Given the description of an element on the screen output the (x, y) to click on. 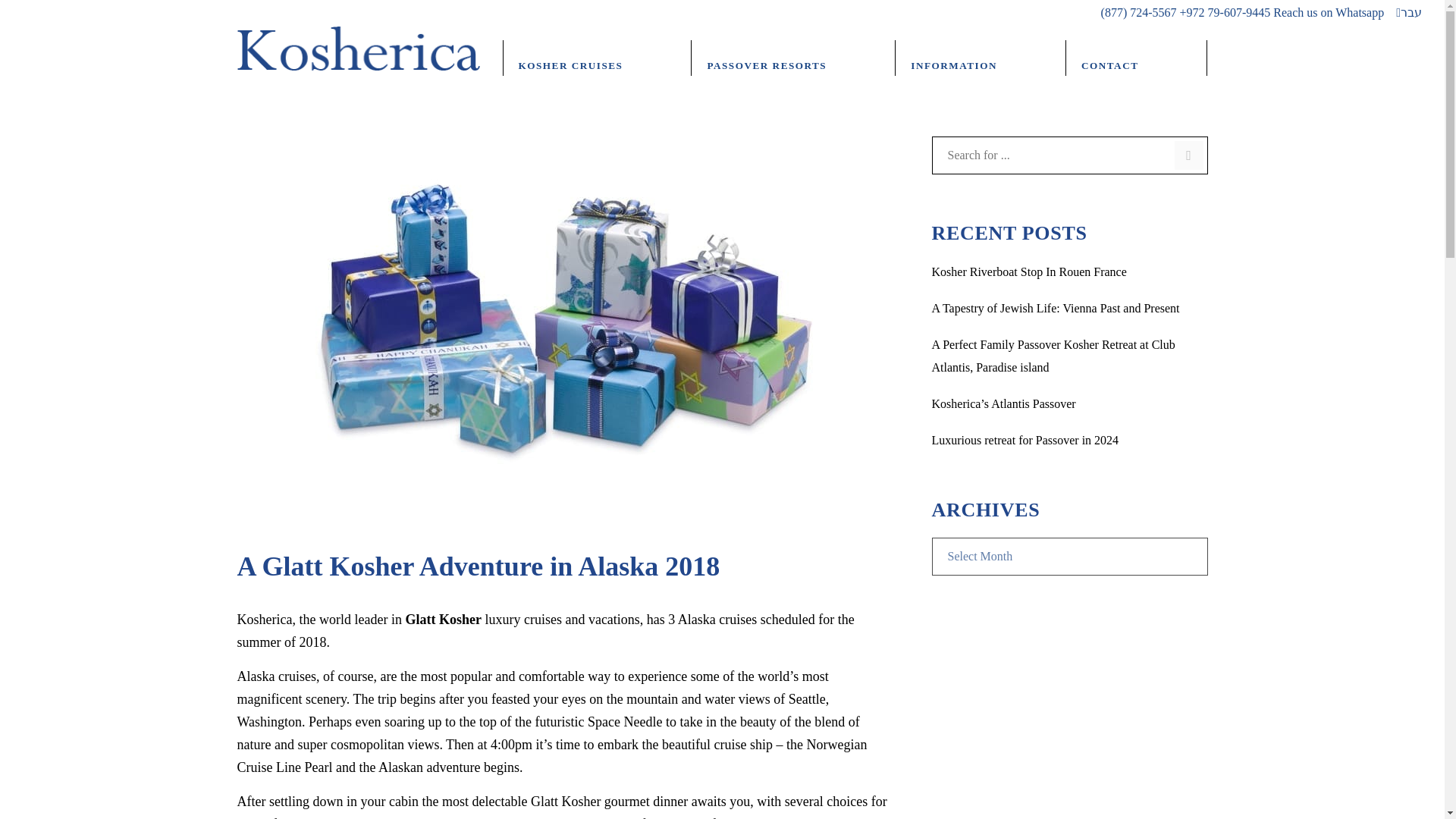
INFORMATION (980, 59)
Reach us on Whatsapp (1328, 11)
KOSHER CRUISES (597, 59)
PASSOVER RESORTS (793, 59)
